Given the description of an element on the screen output the (x, y) to click on. 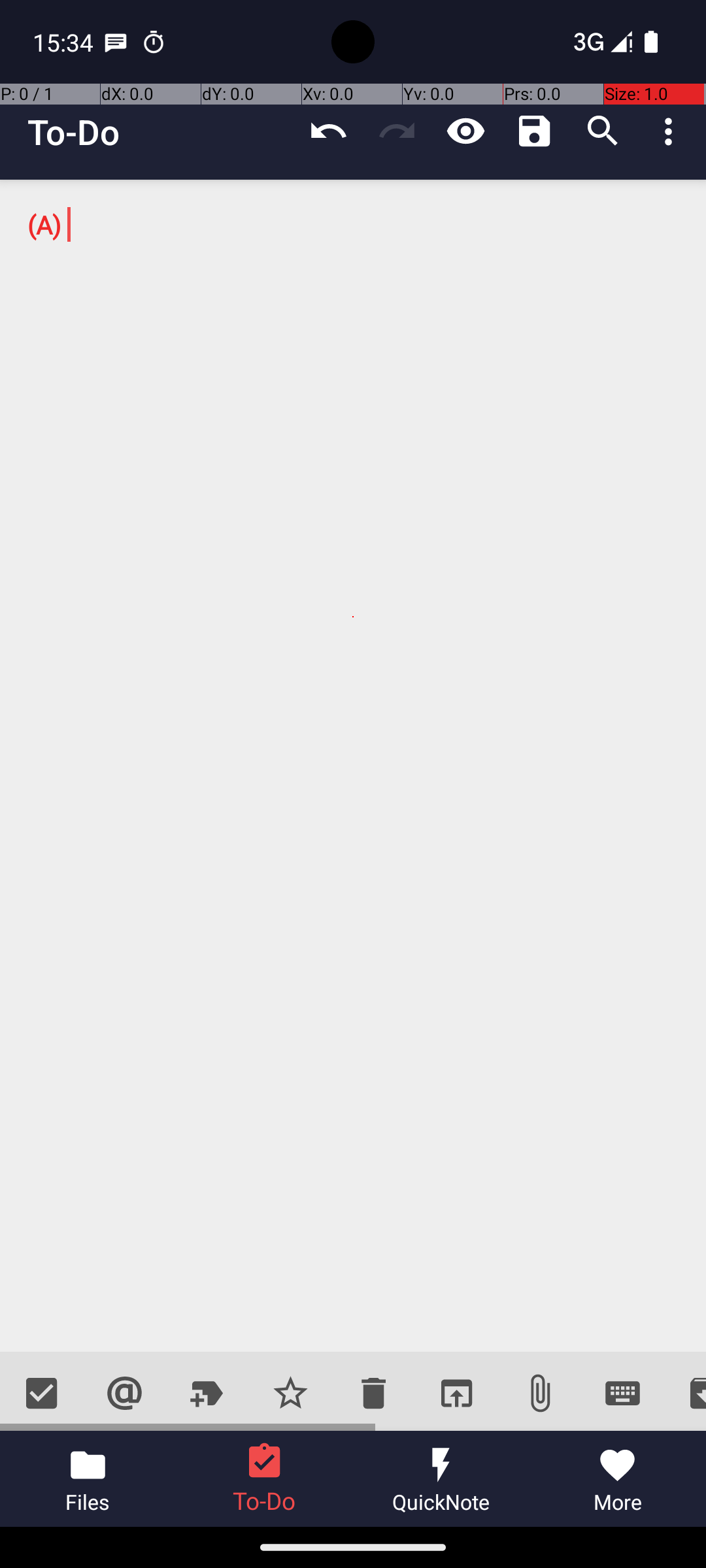
(A)  Element type: android.widget.EditText (353, 765)
